Given the description of an element on the screen output the (x, y) to click on. 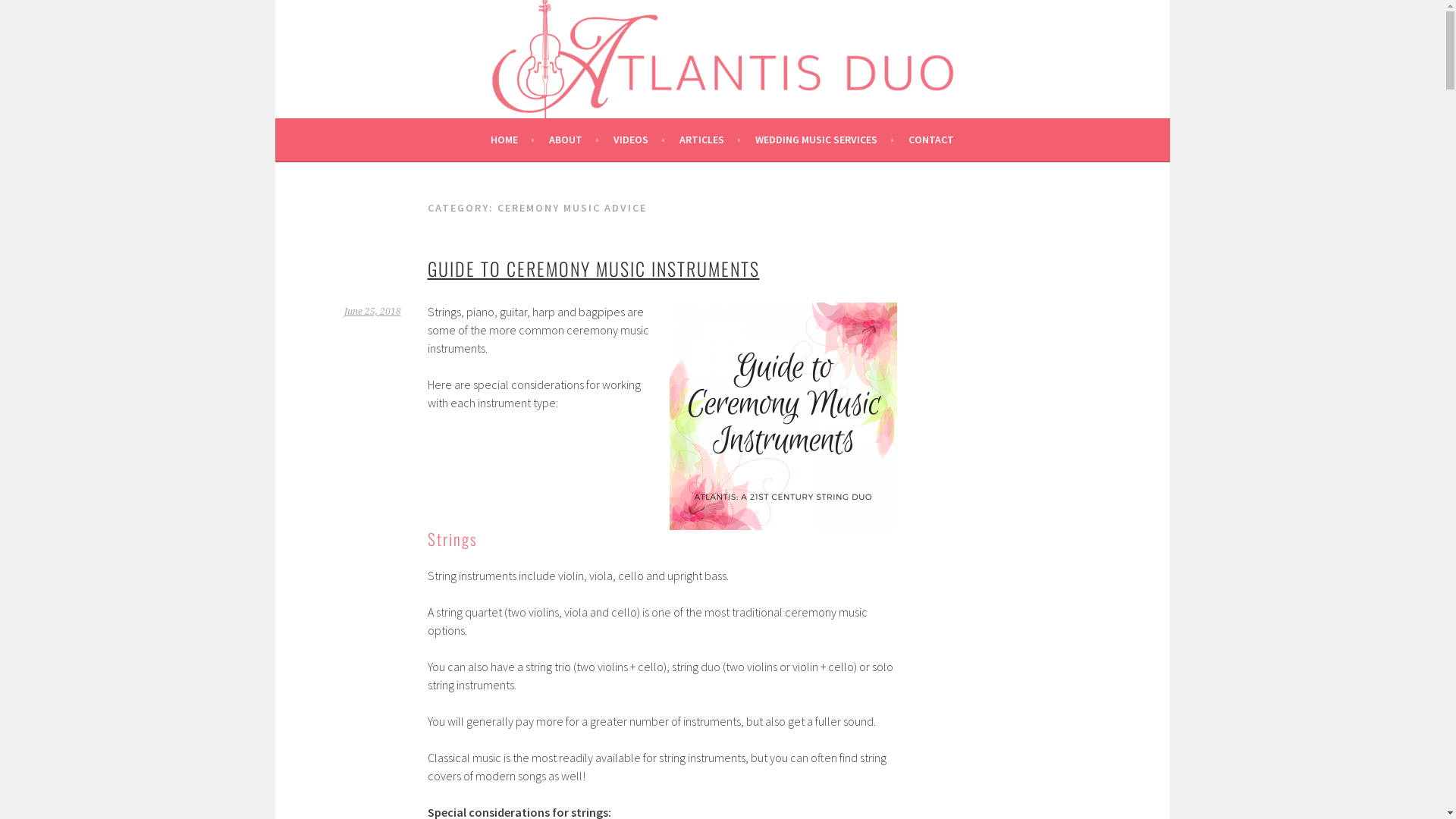
ABOUT Element type: text (574, 139)
WEDDING MUSIC SERVICES Element type: text (824, 139)
GUIDE TO CEREMONY MUSIC INSTRUMENTS Element type: text (593, 268)
June 25, 2018 Element type: text (372, 311)
ATLANTIS DUO Element type: text (395, 54)
ARTICLES Element type: text (709, 139)
CONTACT Element type: text (930, 139)
VIDEOS Element type: text (639, 139)
HOME Element type: text (512, 139)
